Given the description of an element on the screen output the (x, y) to click on. 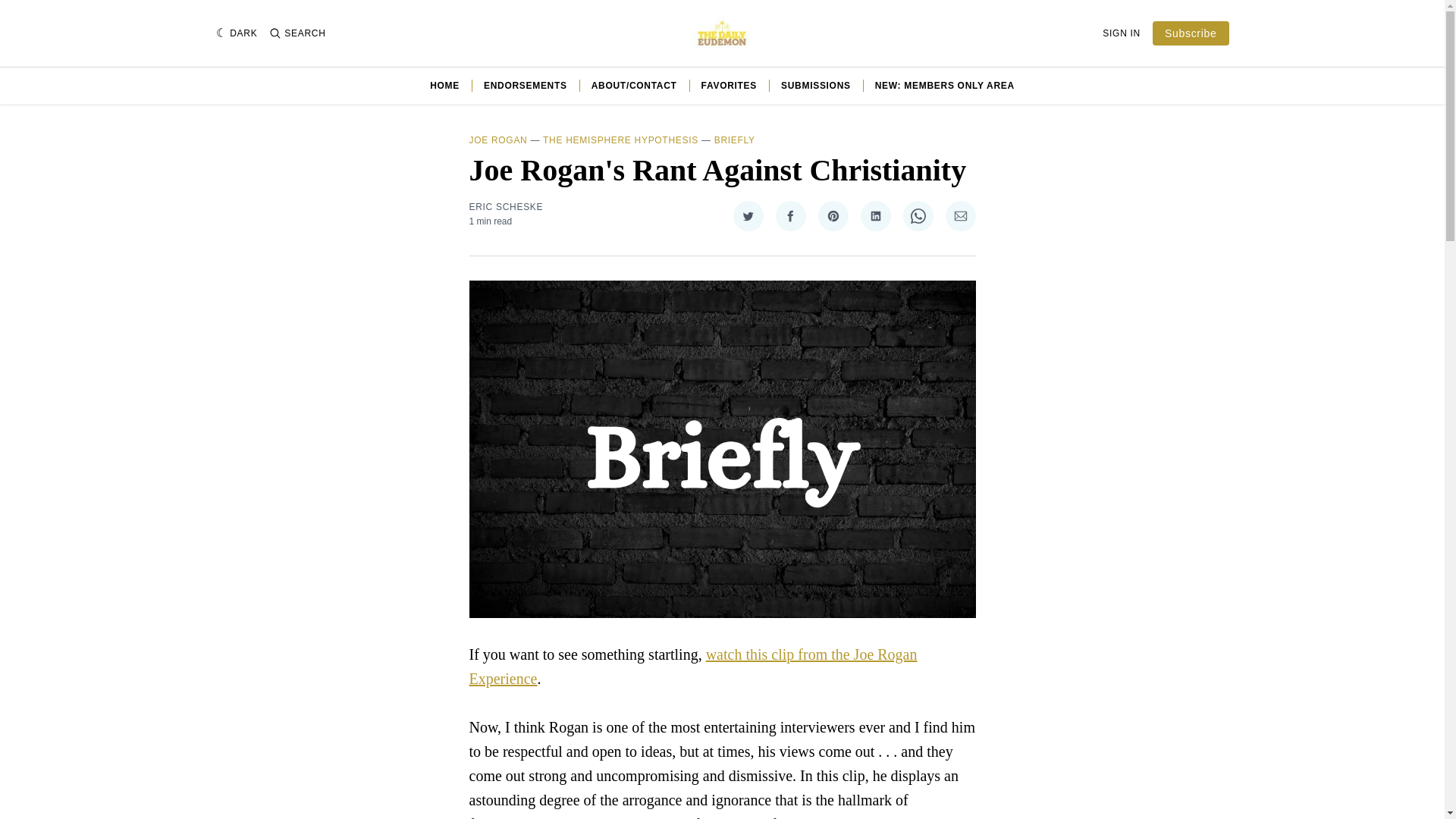
BRIEFLY (734, 140)
SUBMISSIONS (815, 85)
FAVORITES (729, 85)
DARK (236, 32)
SIGN IN (1121, 33)
Subscribe (1190, 33)
THE HEMISPHERE HYPOTHESIS (620, 140)
Share on LinkedIn (874, 215)
Share on Pinterest (831, 215)
HOME (444, 85)
ENDORSEMENTS (525, 85)
Share via Email (959, 215)
SEARCH (296, 33)
watch this clip from the Joe Rogan Experience (692, 666)
JOE ROGAN (497, 140)
